Given the description of an element on the screen output the (x, y) to click on. 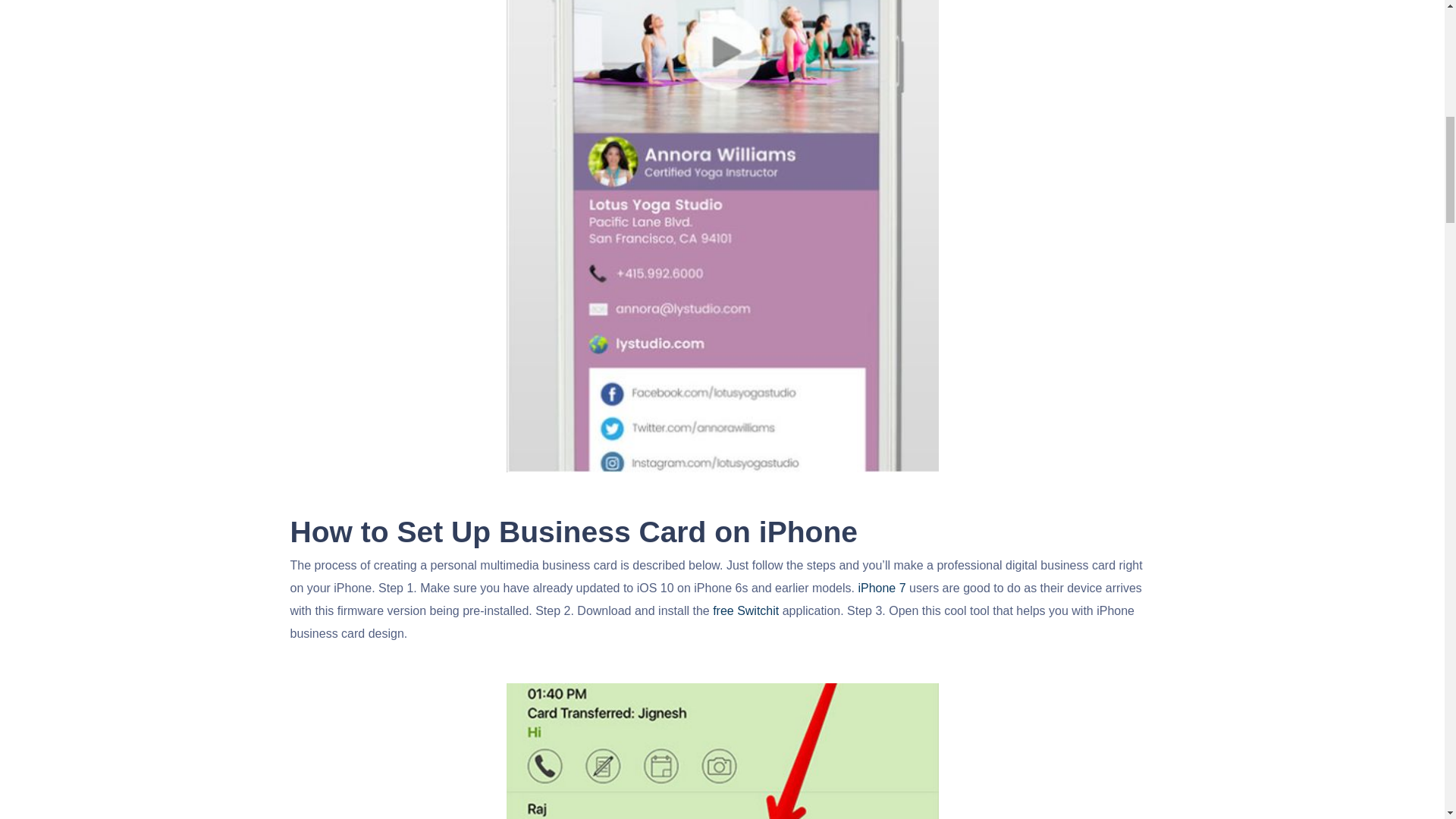
free Switchit (745, 610)
iPhone 7 (881, 587)
